Given the description of an element on the screen output the (x, y) to click on. 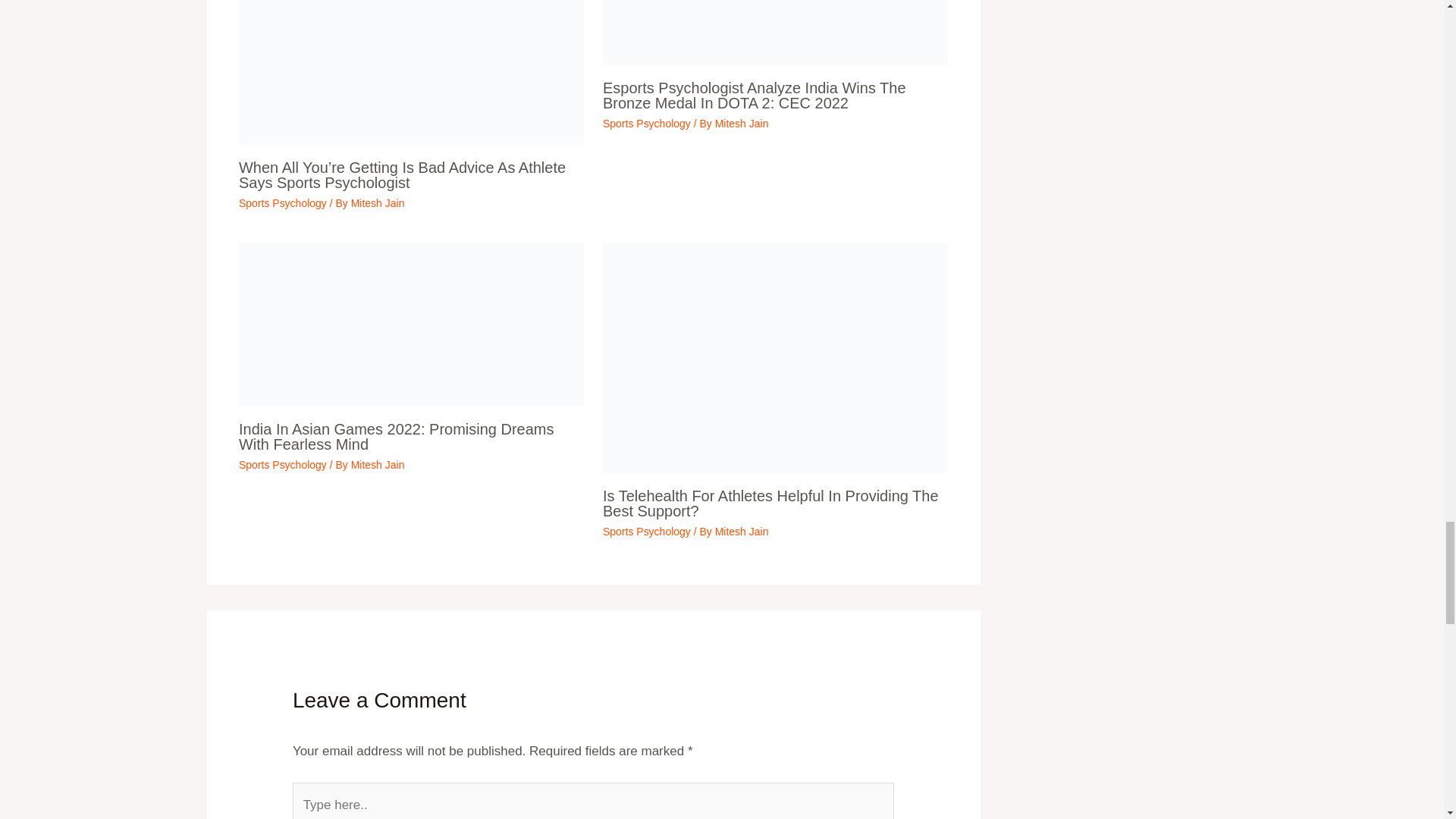
View all posts by Mitesh Jain (377, 464)
View all posts by Mitesh Jain (377, 203)
View all posts by Mitesh Jain (741, 531)
View all posts by Mitesh Jain (741, 123)
